Given the description of an element on the screen output the (x, y) to click on. 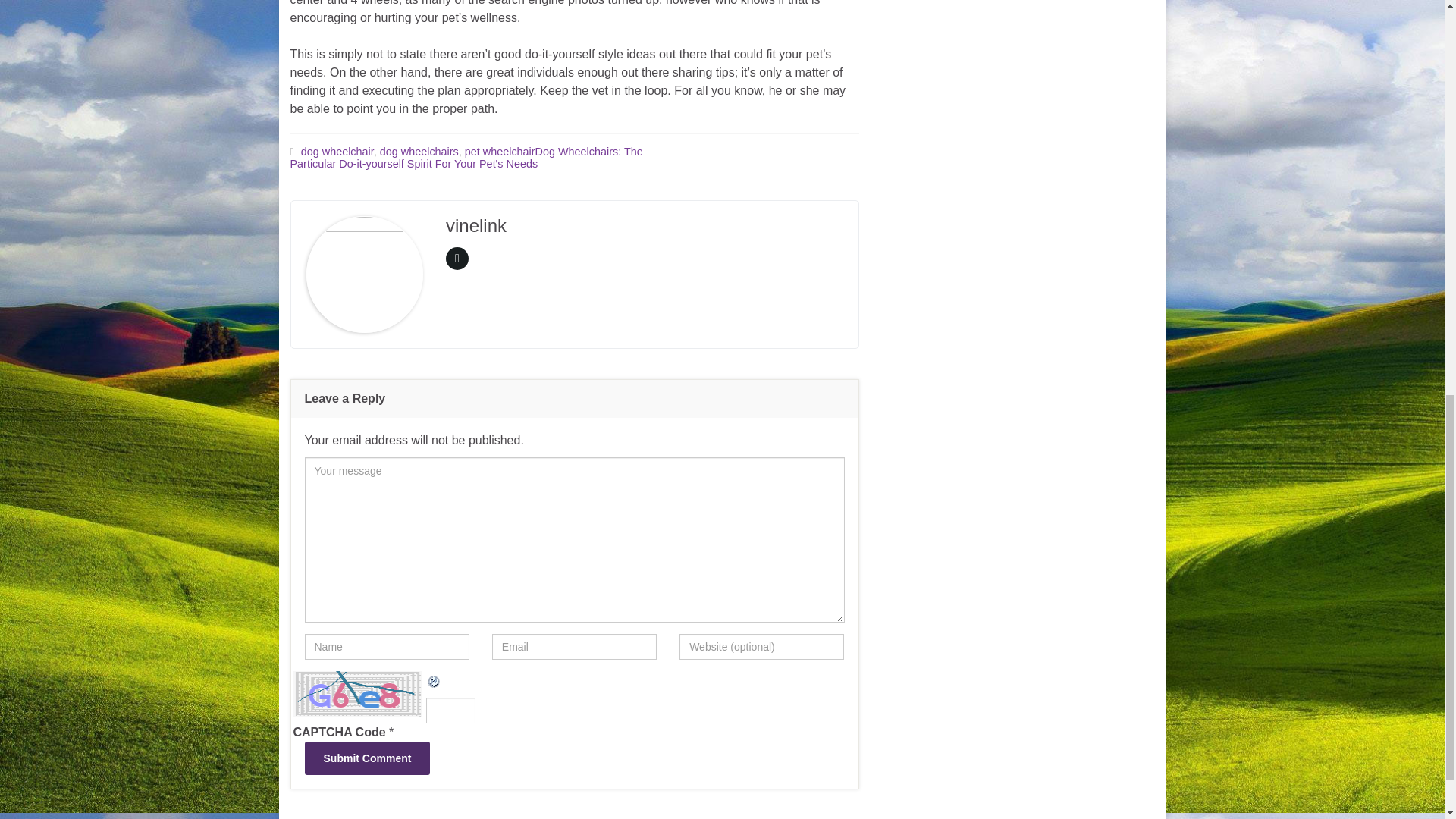
Submit Comment (367, 758)
dog wheelchair (337, 151)
dog wheelchairs (419, 151)
CAPTCHA Image (358, 693)
Submit Comment (367, 758)
Refresh Image (434, 679)
